Given the description of an element on the screen output the (x, y) to click on. 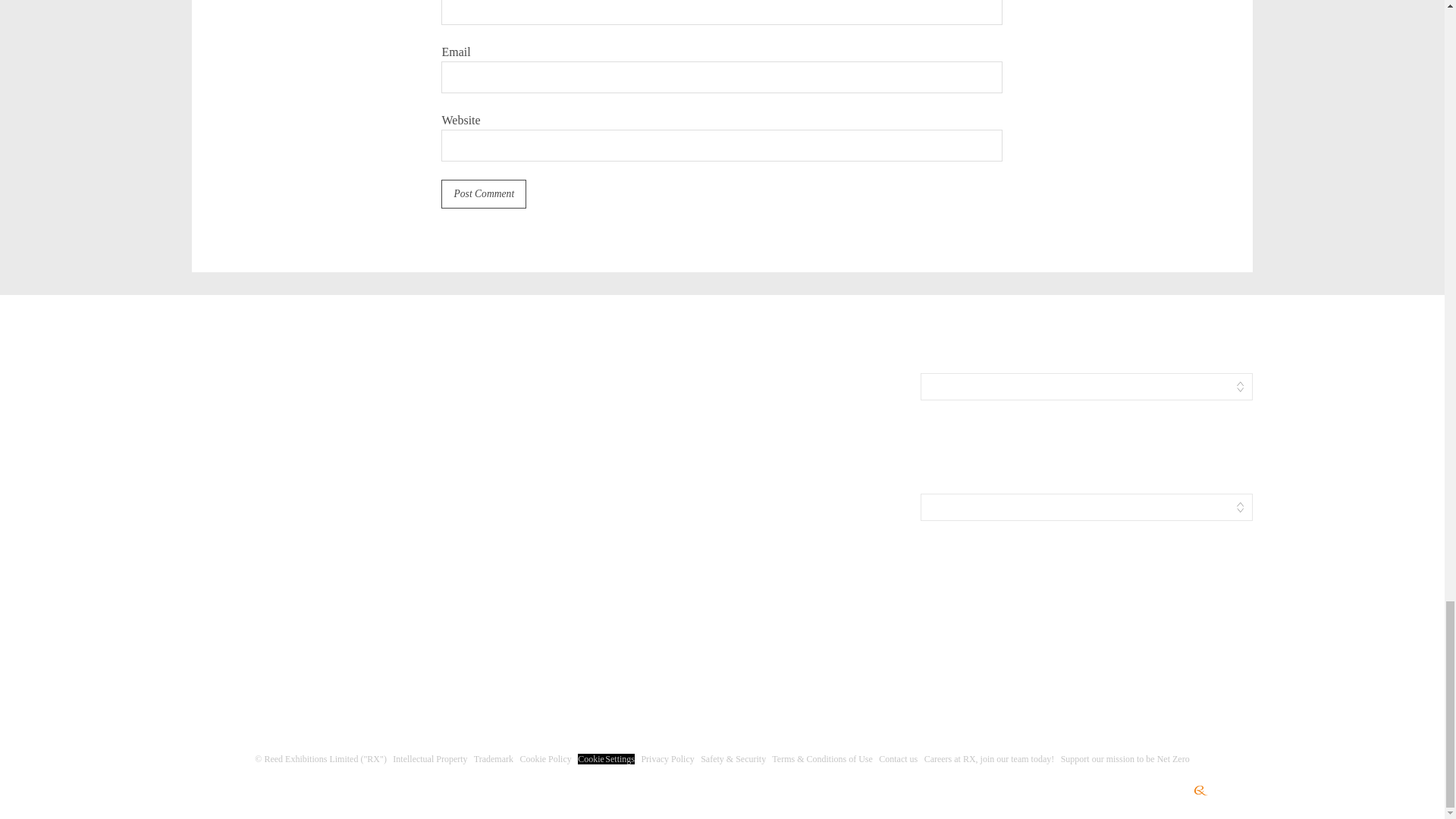
Post Comment (483, 193)
